Given the description of an element on the screen output the (x, y) to click on. 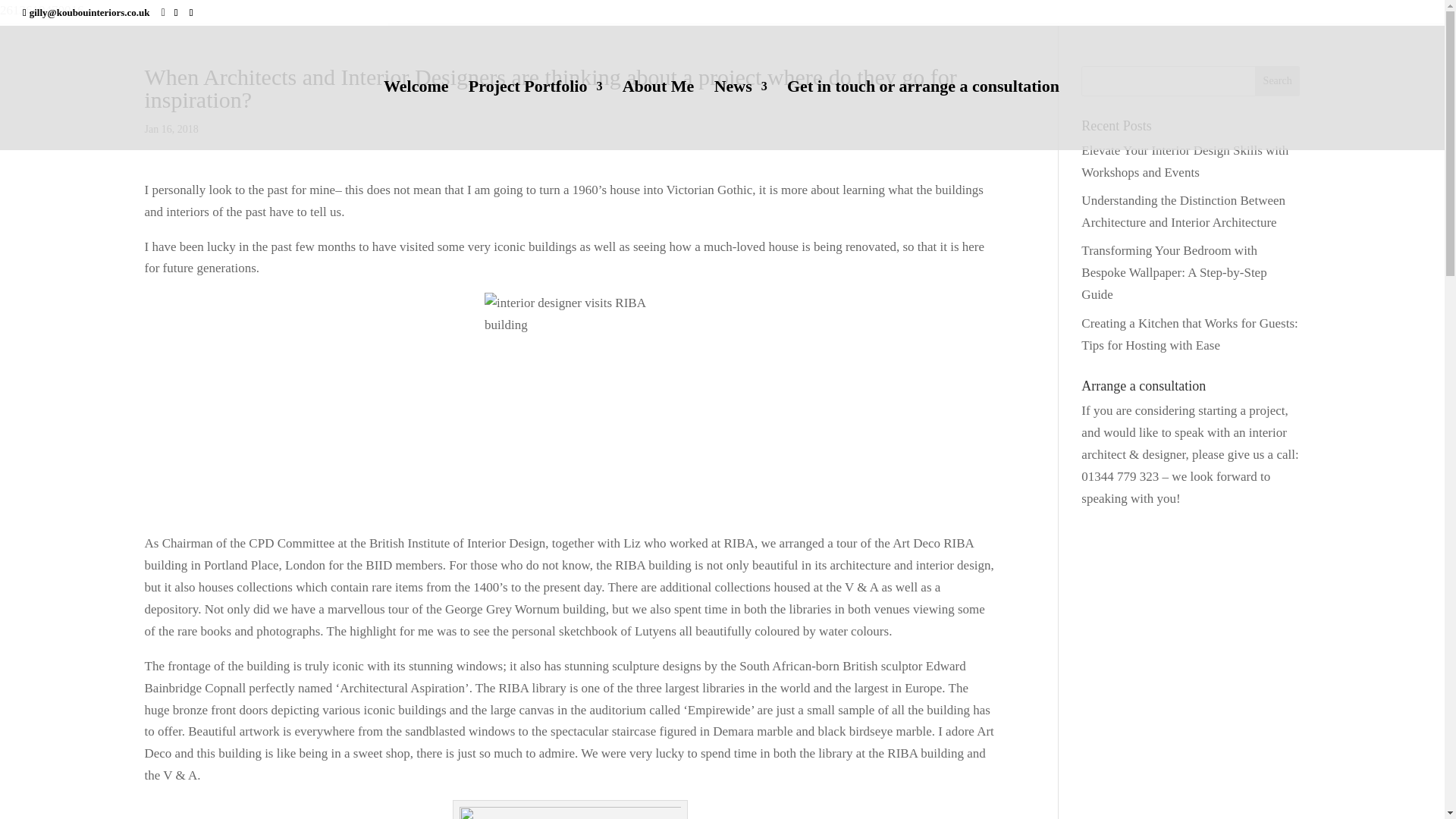
Welcome (416, 115)
Search (1277, 81)
Search (1277, 81)
Project Portfolio (535, 115)
About Me (658, 115)
Get in touch or arrange a consultation (923, 115)
